Given the description of an element on the screen output the (x, y) to click on. 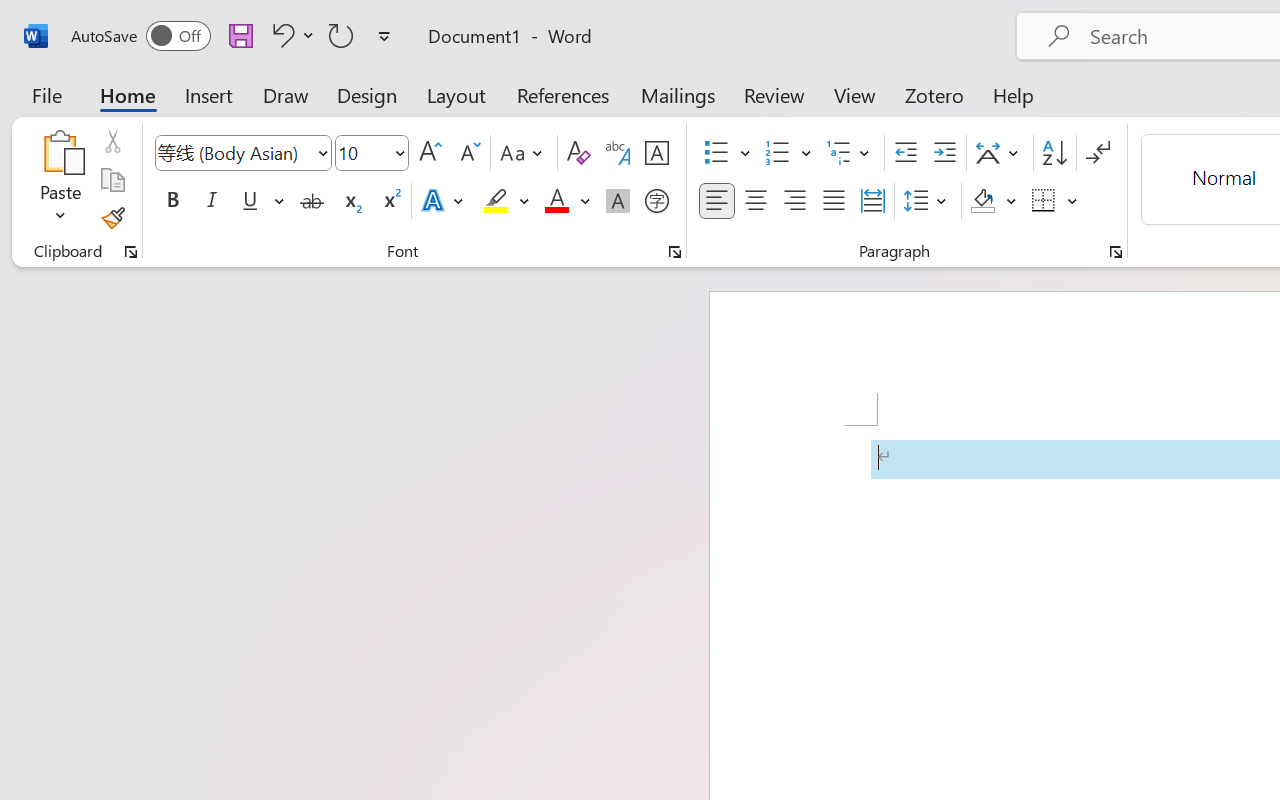
Undo Apply Quick Style (290, 35)
